Given the description of an element on the screen output the (x, y) to click on. 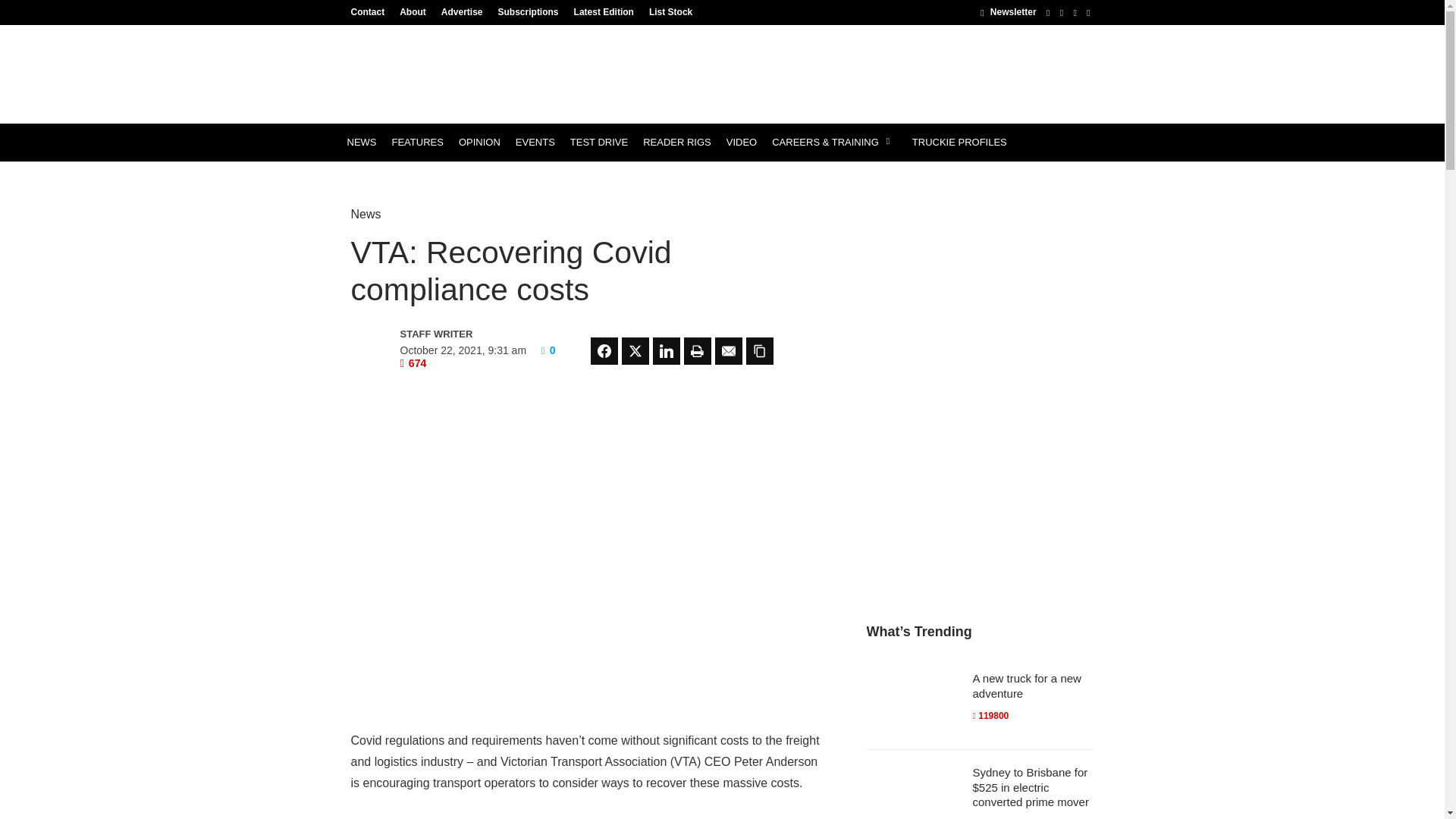
About (412, 11)
TEST DRIVE (598, 142)
VIDEO (741, 142)
Share on Email (728, 350)
Advertise (461, 11)
TRUCKIE PROFILES (959, 142)
FEATURES (416, 142)
Views (413, 363)
NEWS (361, 142)
EVENTS (535, 142)
